Given the description of an element on the screen output the (x, y) to click on. 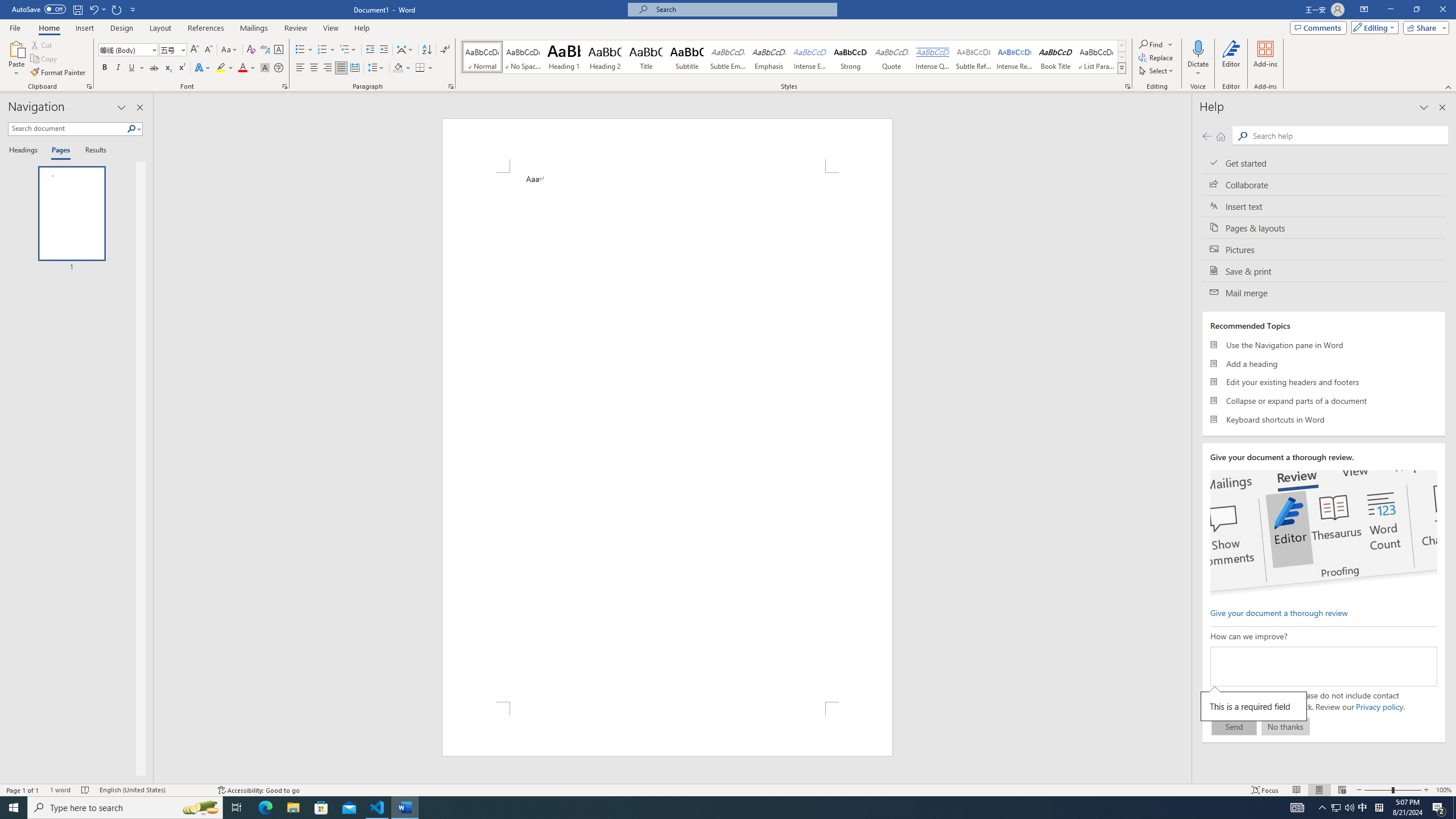
Zoom 100% (1443, 790)
Privacy policy (1379, 706)
Get started (1323, 162)
